Given the description of an element on the screen output the (x, y) to click on. 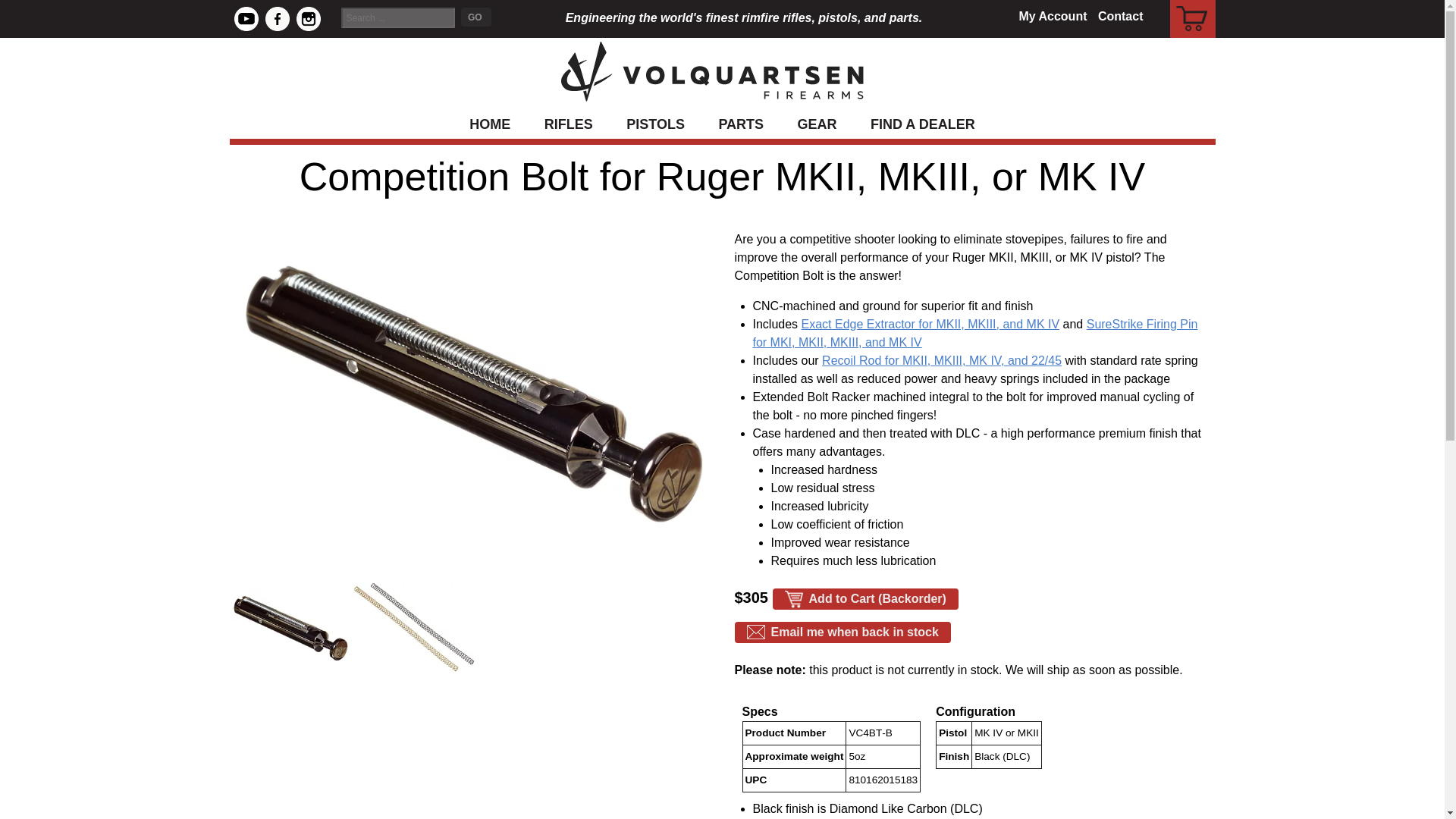
HOME (489, 124)
PISTOLS (655, 124)
FIND A DEALER (923, 124)
GEAR (817, 124)
RIFLES (568, 124)
Exact Edge Extractor for MKII, MKIII, and MK IV (930, 323)
GO (476, 16)
GO (476, 16)
Contact (1119, 15)
Email me when back in stock (841, 631)
